Given the description of an element on the screen output the (x, y) to click on. 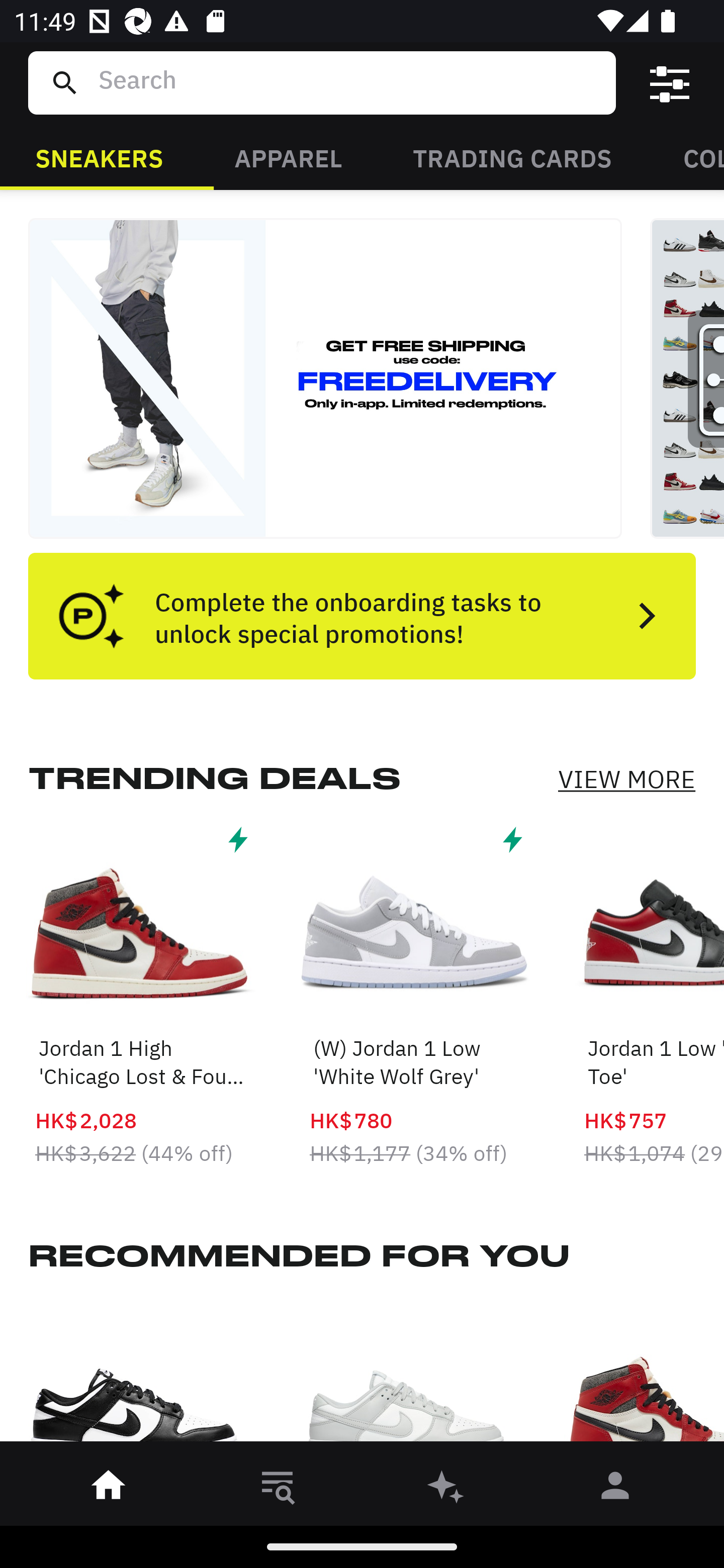
Search (349, 82)
 (669, 82)
SNEAKERS (99, 156)
APPAREL (287, 156)
TRADING CARDS (512, 156)
VIEW MORE (626, 779)
󰋜 (108, 1488)
󱎸 (277, 1488)
󰫢 (446, 1488)
󰀄 (615, 1488)
